Given the description of an element on the screen output the (x, y) to click on. 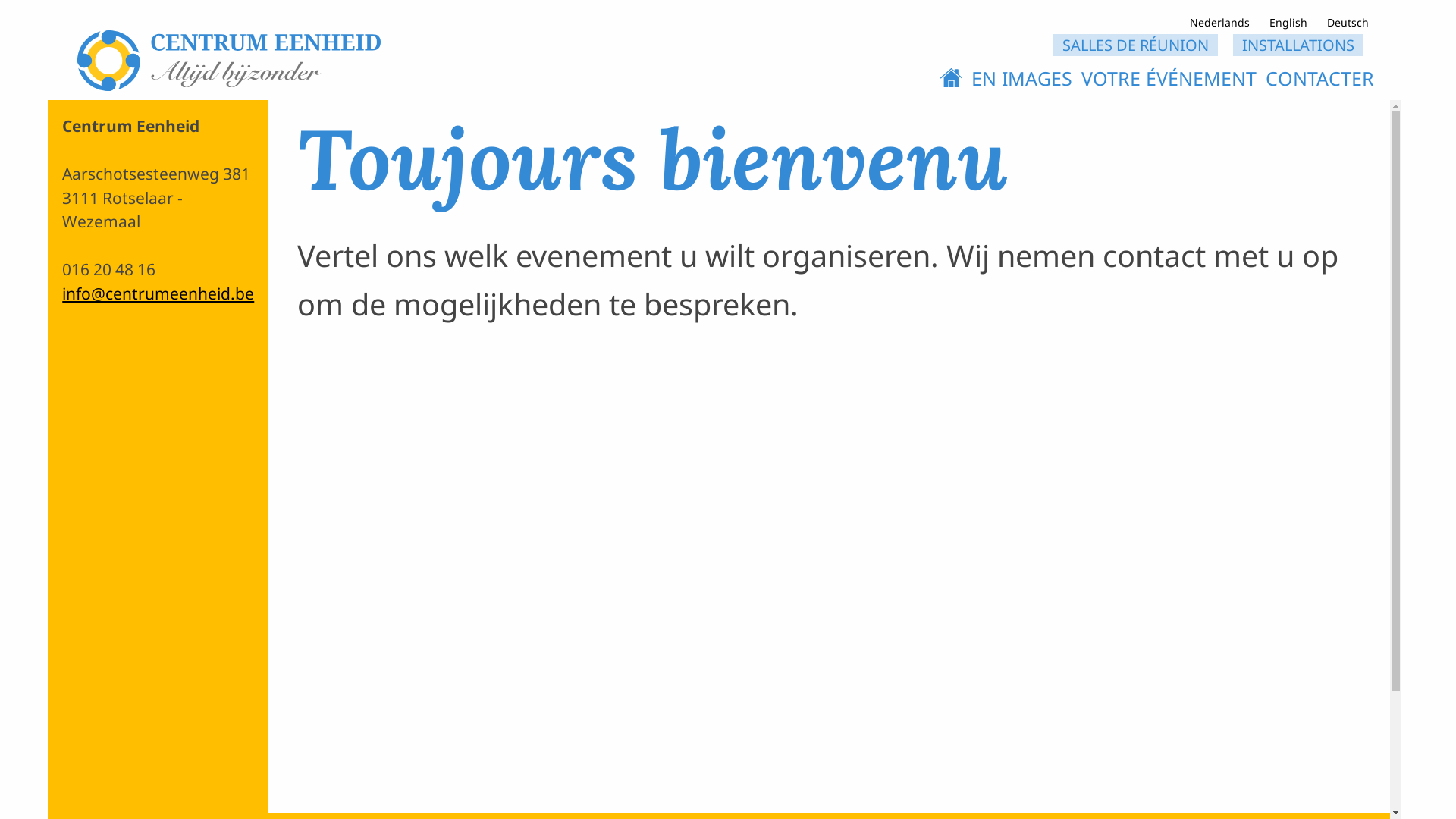
Deutsch Element type: text (1347, 24)
Nederlands Element type: text (1219, 24)
info@centrumeenheid.be Element type: text (158, 293)
CONTACTER Element type: text (1319, 78)
EN IMAGES Element type: text (1021, 78)
English Element type: text (1288, 24)
INSTALLATIONS Element type: text (1298, 45)
